Given the description of an element on the screen output the (x, y) to click on. 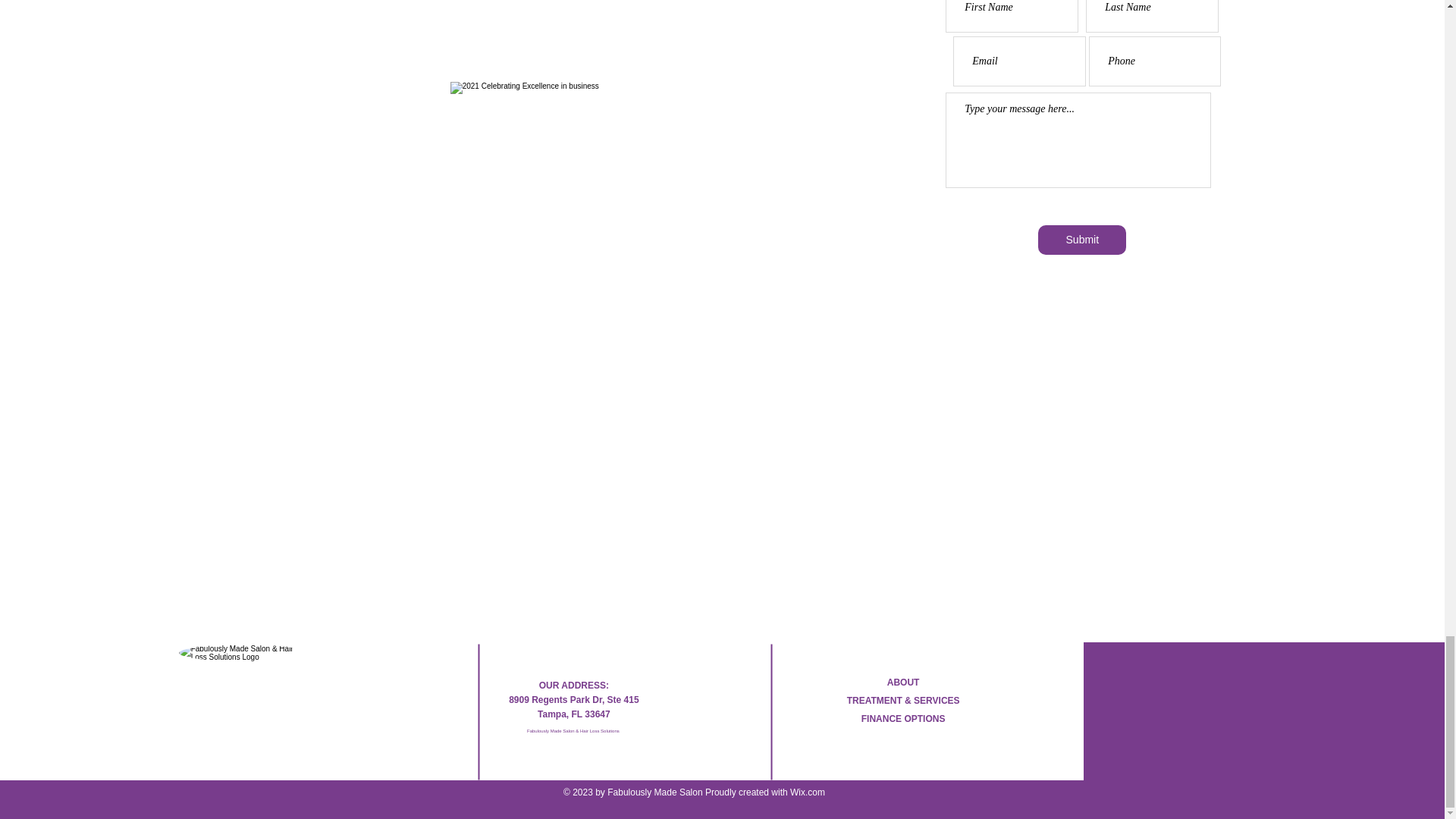
Submit (1081, 239)
ABOUT (903, 682)
Wix.com (807, 792)
FINANCE OPTIONS (902, 718)
North Tampa Bay Chamber (533, 20)
